Given the description of an element on the screen output the (x, y) to click on. 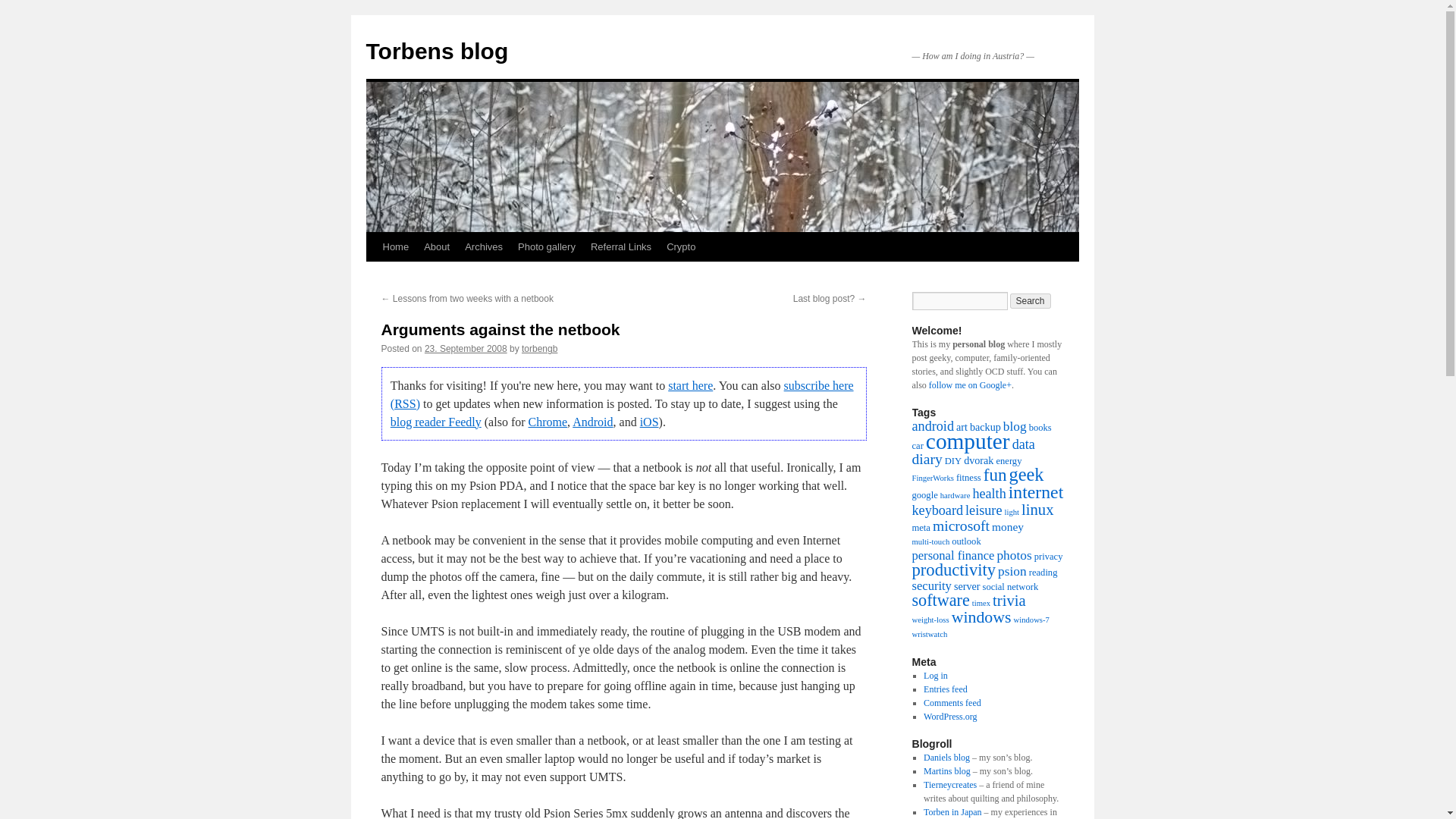
iOS (649, 421)
torbengb (539, 348)
data (1023, 444)
Search (1030, 300)
art (962, 426)
android (932, 426)
Chrome (547, 421)
car (917, 445)
Torbens blog (436, 50)
Crypto (681, 246)
